Given the description of an element on the screen output the (x, y) to click on. 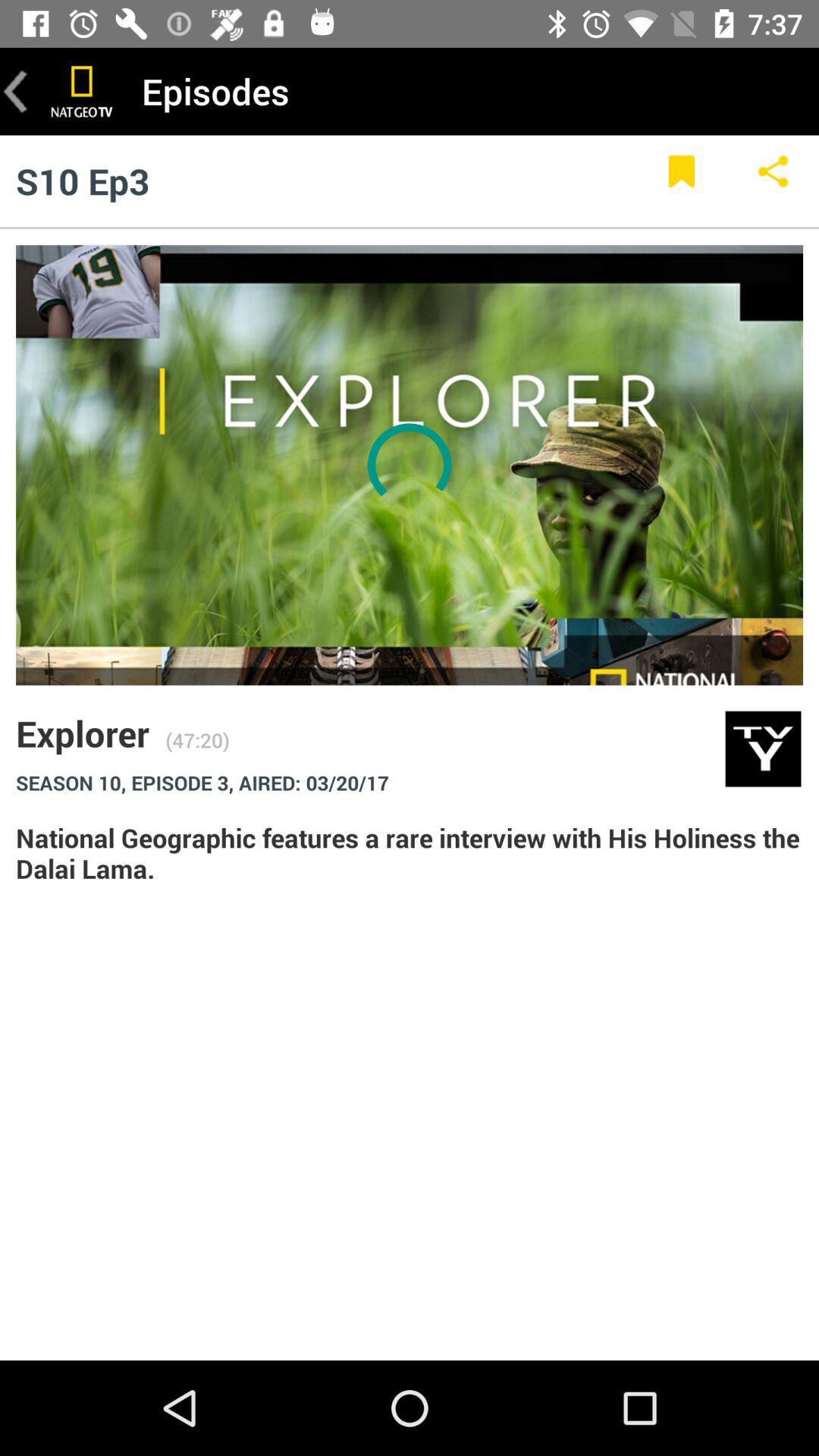
share page (773, 180)
